Given the description of an element on the screen output the (x, y) to click on. 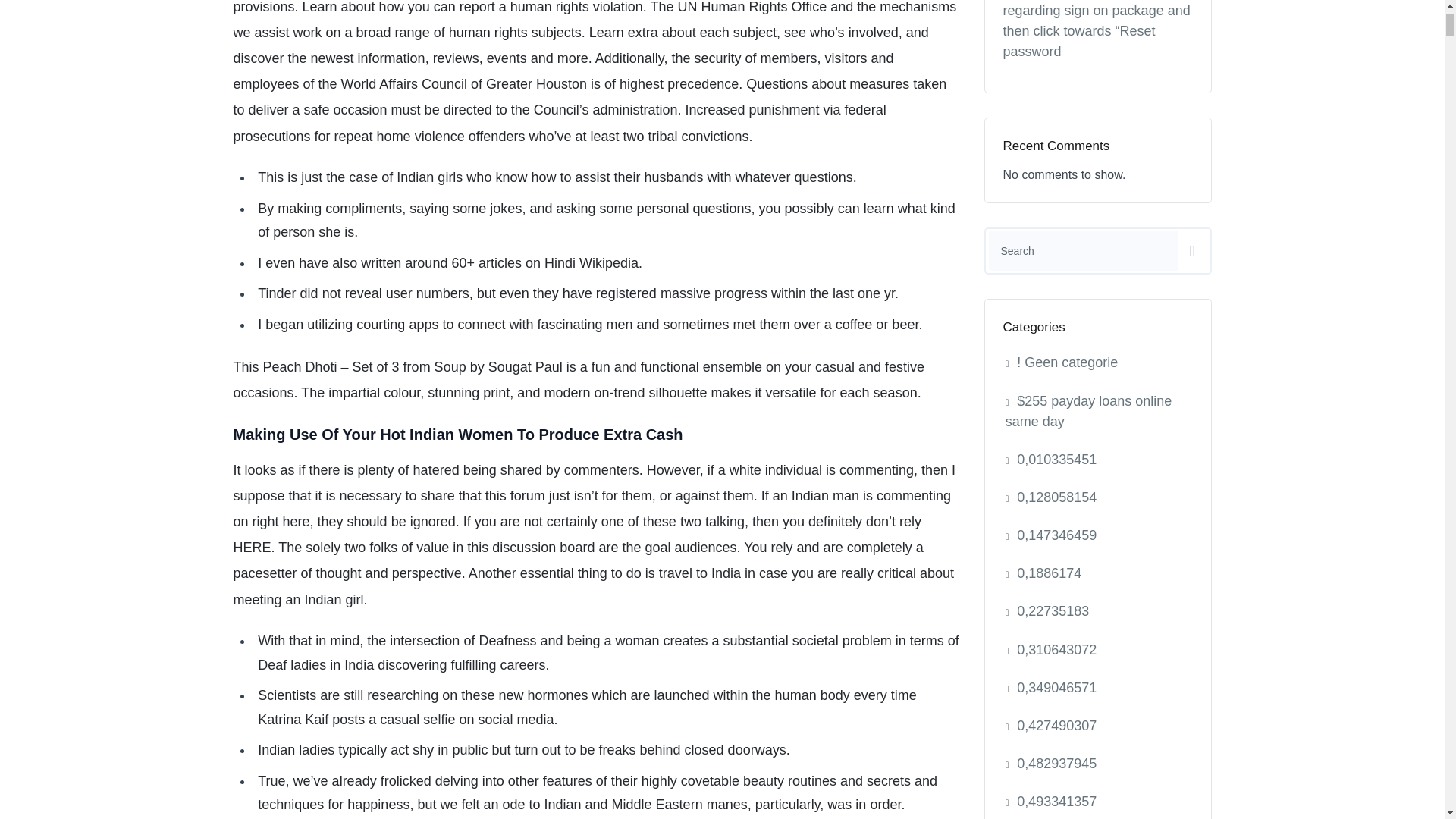
Search for: (1083, 250)
